Given the description of an element on the screen output the (x, y) to click on. 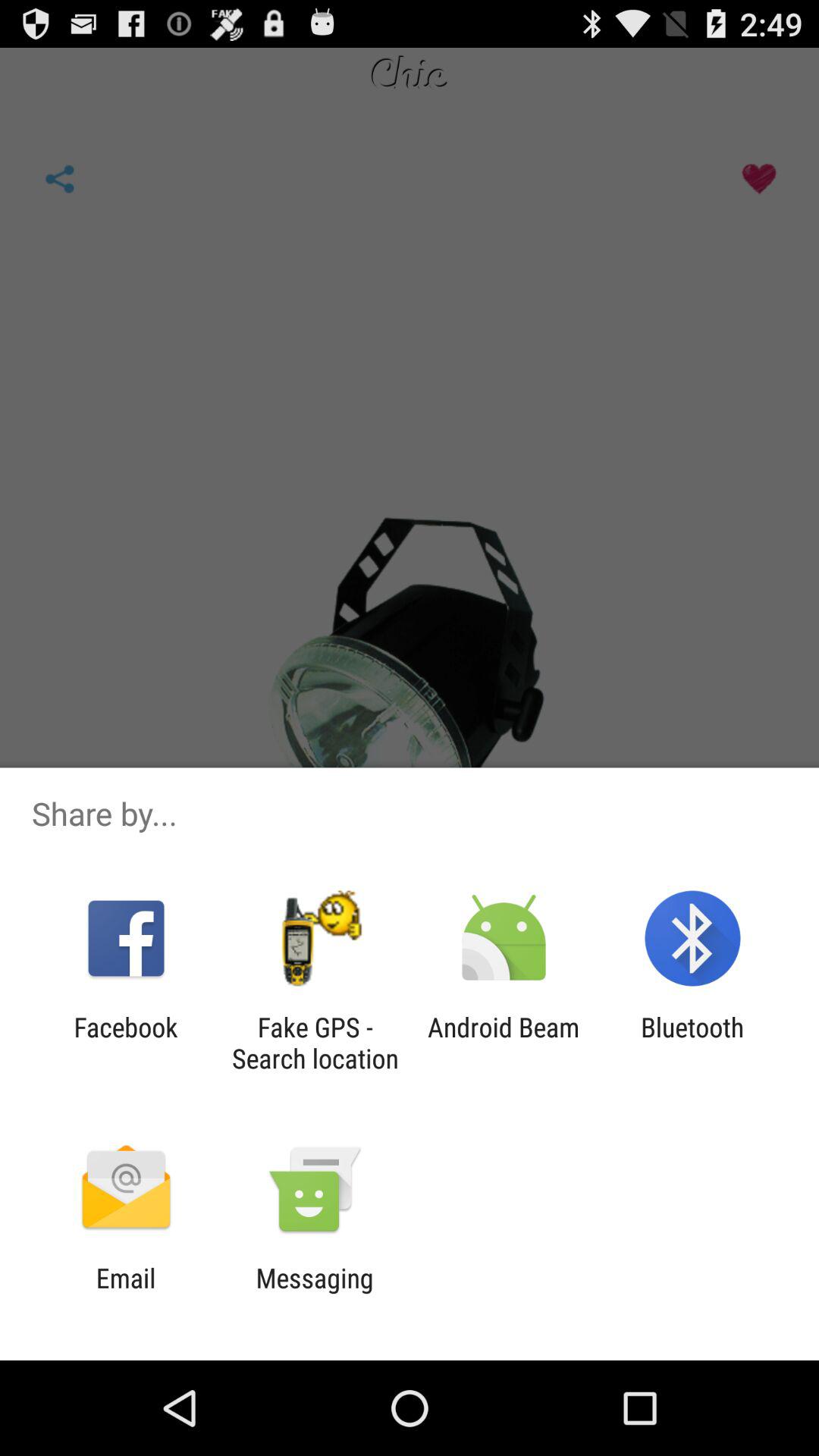
open the item next to the fake gps search item (503, 1042)
